Given the description of an element on the screen output the (x, y) to click on. 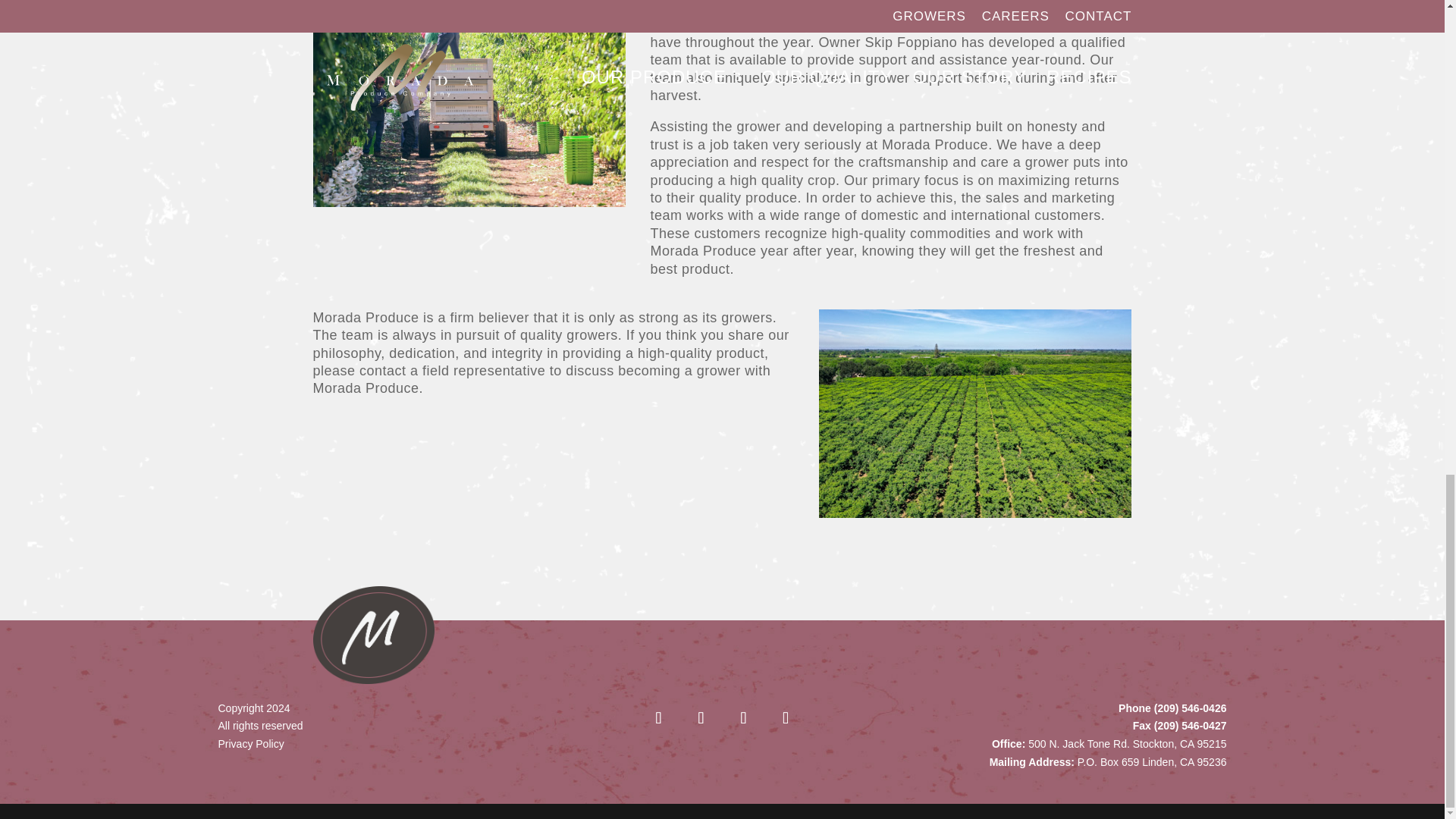
Follow on Twitter (702, 719)
Follow on Instagram (788, 719)
careers (469, 103)
crest (373, 634)
Privacy Policy (250, 743)
growers2 (975, 413)
Follow on LinkedIn (744, 719)
Follow on Facebook (660, 719)
500 N. Jack Tone Rd. Stockton, CA 95215 (1126, 743)
